Given the description of an element on the screen output the (x, y) to click on. 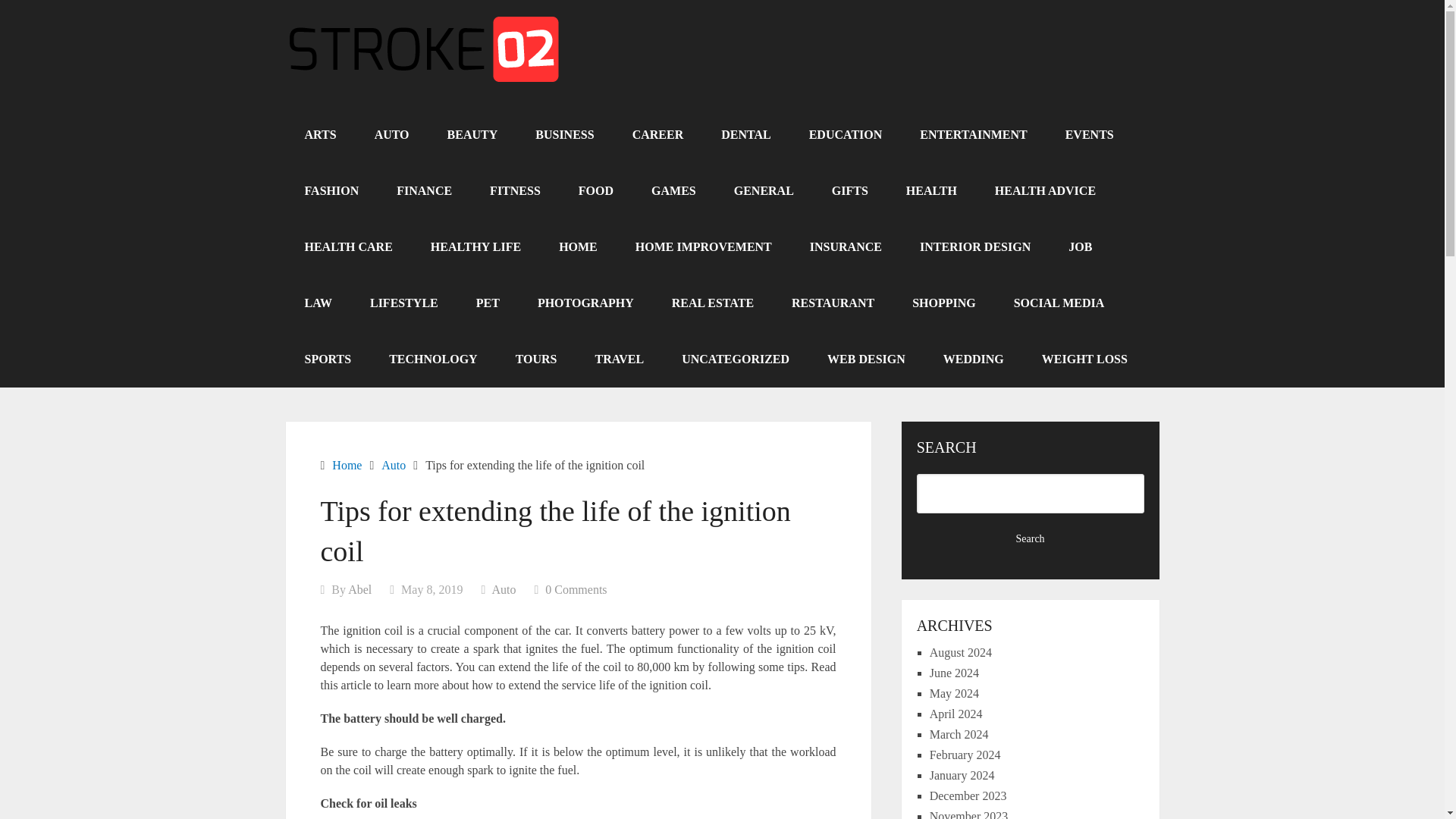
ENTERTAINMENT (973, 134)
AUTO (391, 134)
TECHNOLOGY (432, 359)
HEALTH (930, 190)
TOURS (536, 359)
REAL ESTATE (712, 303)
RESTAURANT (833, 303)
BEAUTY (472, 134)
HEALTH ADVICE (1045, 190)
EDUCATION (845, 134)
